Given the description of an element on the screen output the (x, y) to click on. 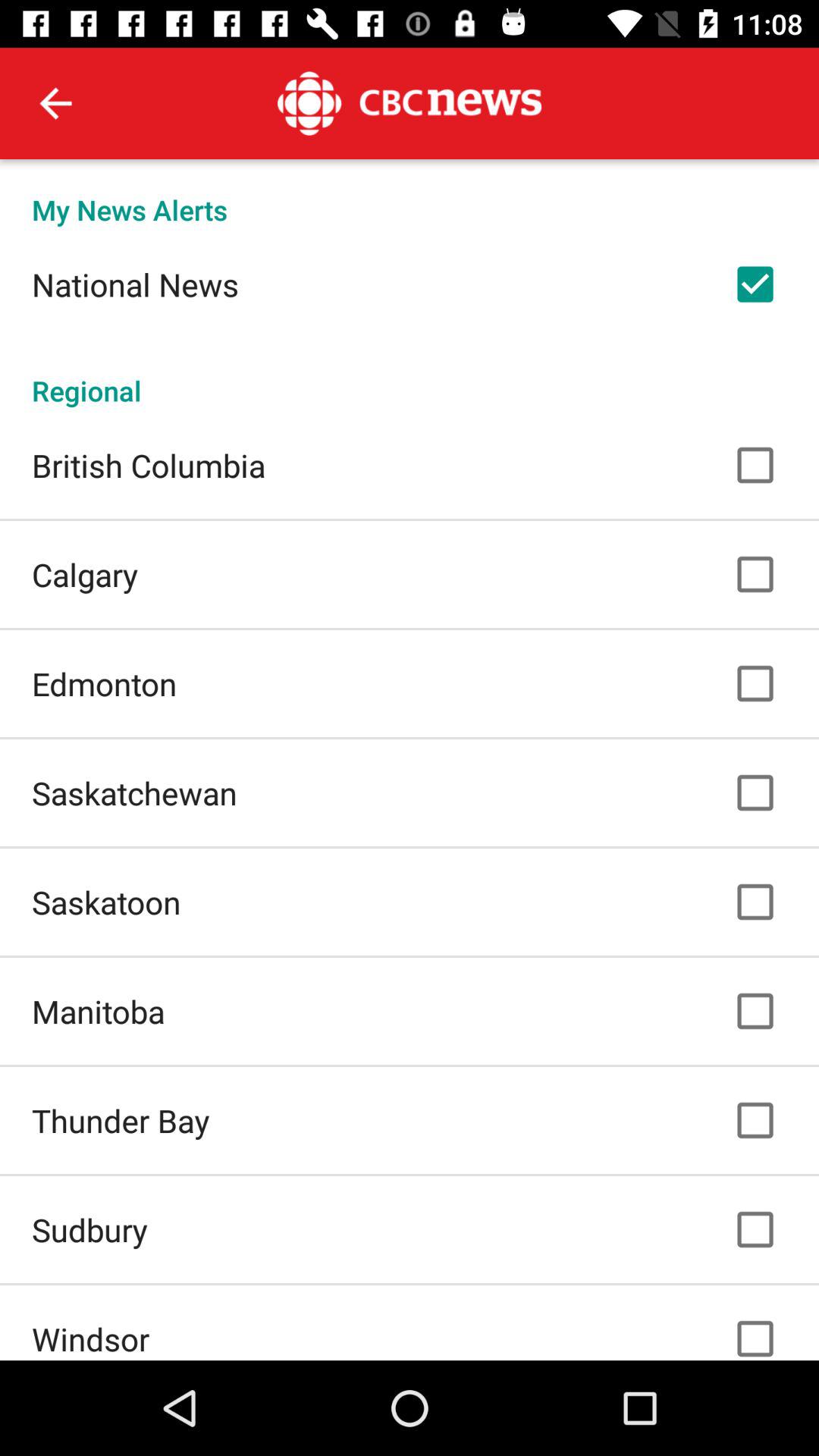
click the sudbury icon (89, 1229)
